Given the description of an element on the screen output the (x, y) to click on. 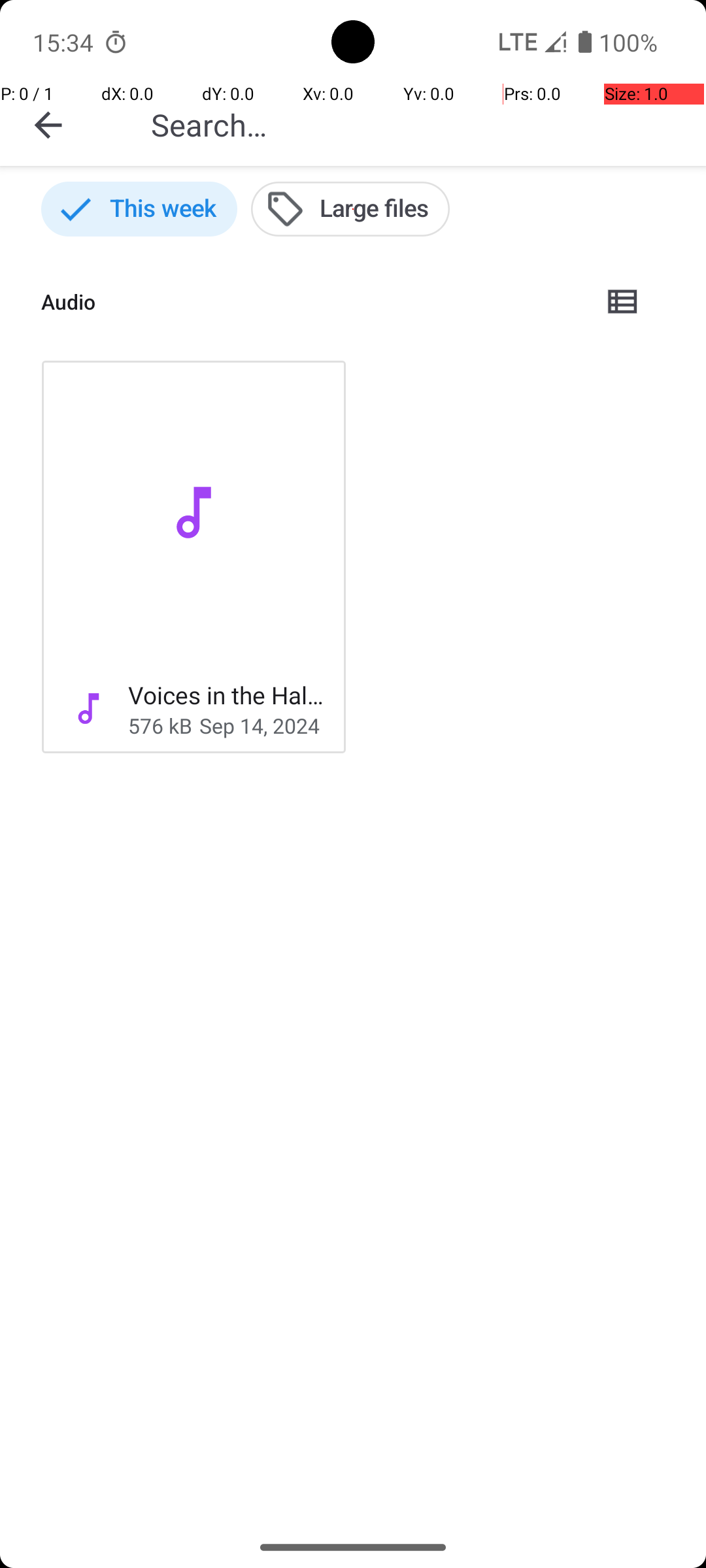
Voices in the Hall.mp3 Element type: android.widget.TextView (226, 694)
576 kB Element type: android.widget.TextView (160, 725)
Sep 14, 2024 Element type: android.widget.TextView (259, 725)
